Given the description of an element on the screen output the (x, y) to click on. 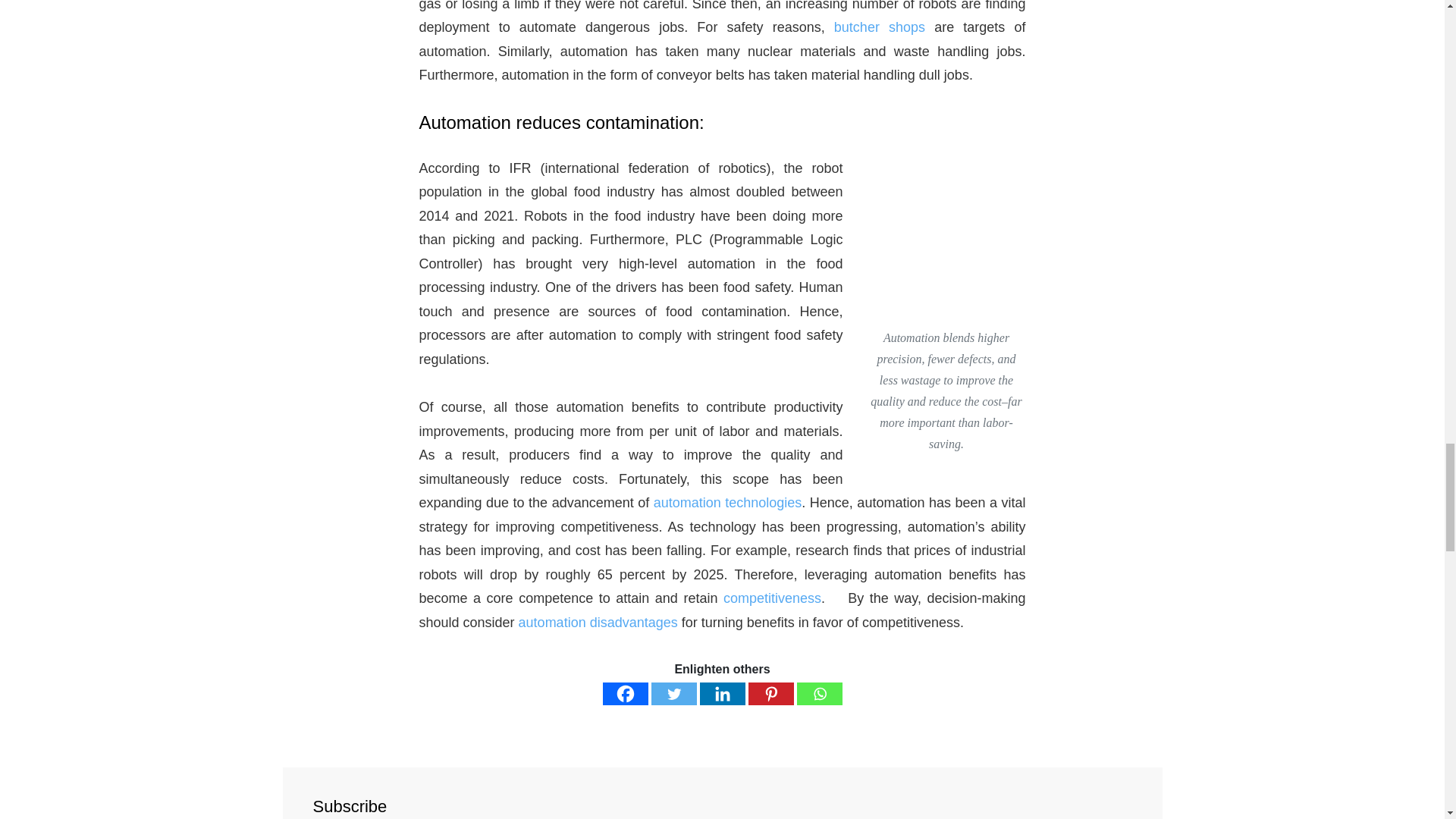
Twitter (672, 693)
Facebook (624, 693)
Pinterest (770, 693)
Whatsapp (818, 693)
Linkedin (721, 693)
